Given the description of an element on the screen output the (x, y) to click on. 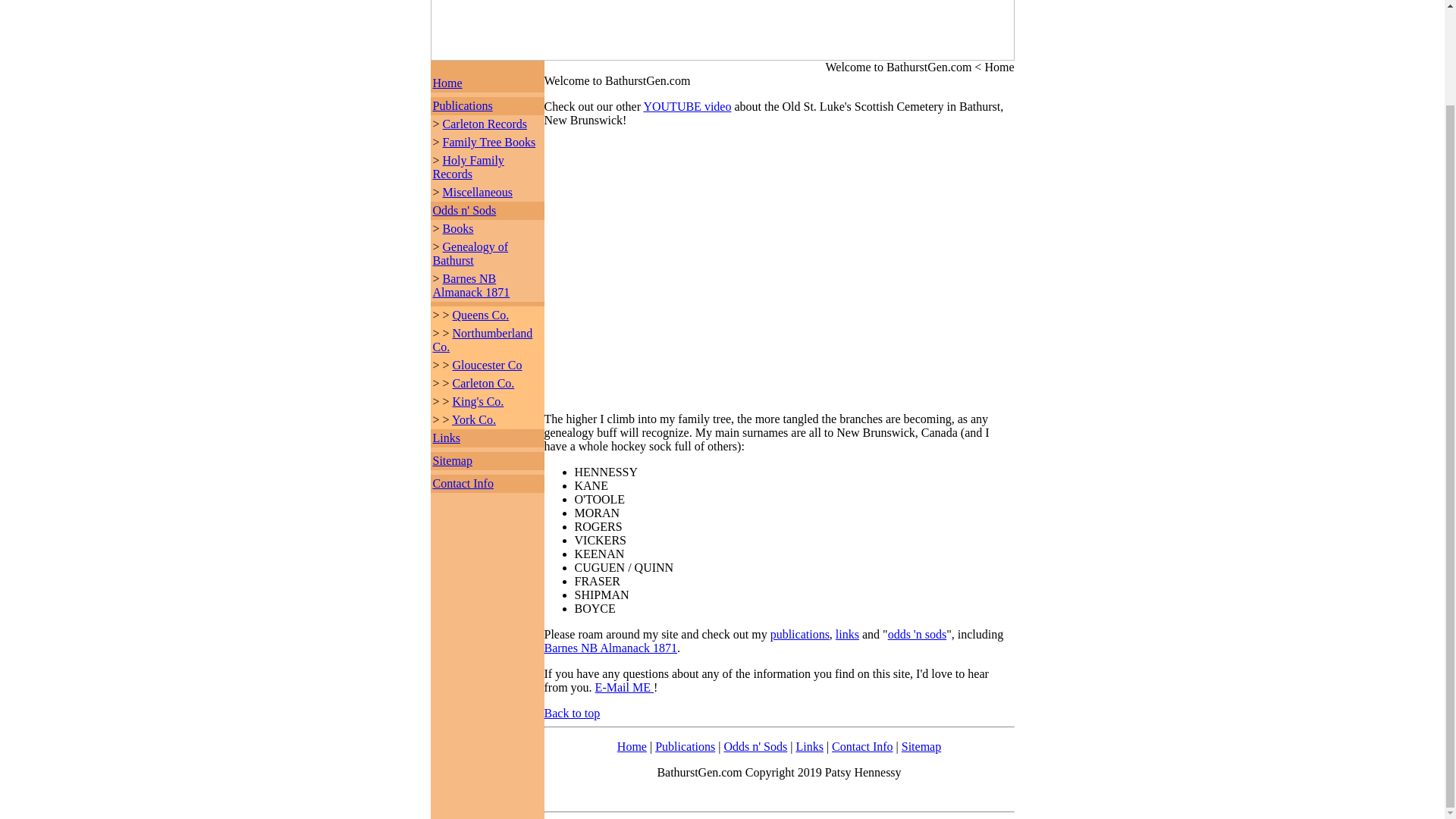
Back to top (571, 712)
Carleton Records (484, 123)
YOUTUBE video (686, 106)
Contact Info (462, 482)
Genealogy of Bathurst (470, 253)
Home (631, 746)
Links (808, 746)
Sitemap (451, 460)
Miscellaneous (477, 192)
York Co. (473, 419)
Family Tree Books (488, 141)
Carleton Co. (483, 382)
Home (446, 82)
Odds n' Sods (464, 210)
Sitemap (920, 746)
